Given the description of an element on the screen output the (x, y) to click on. 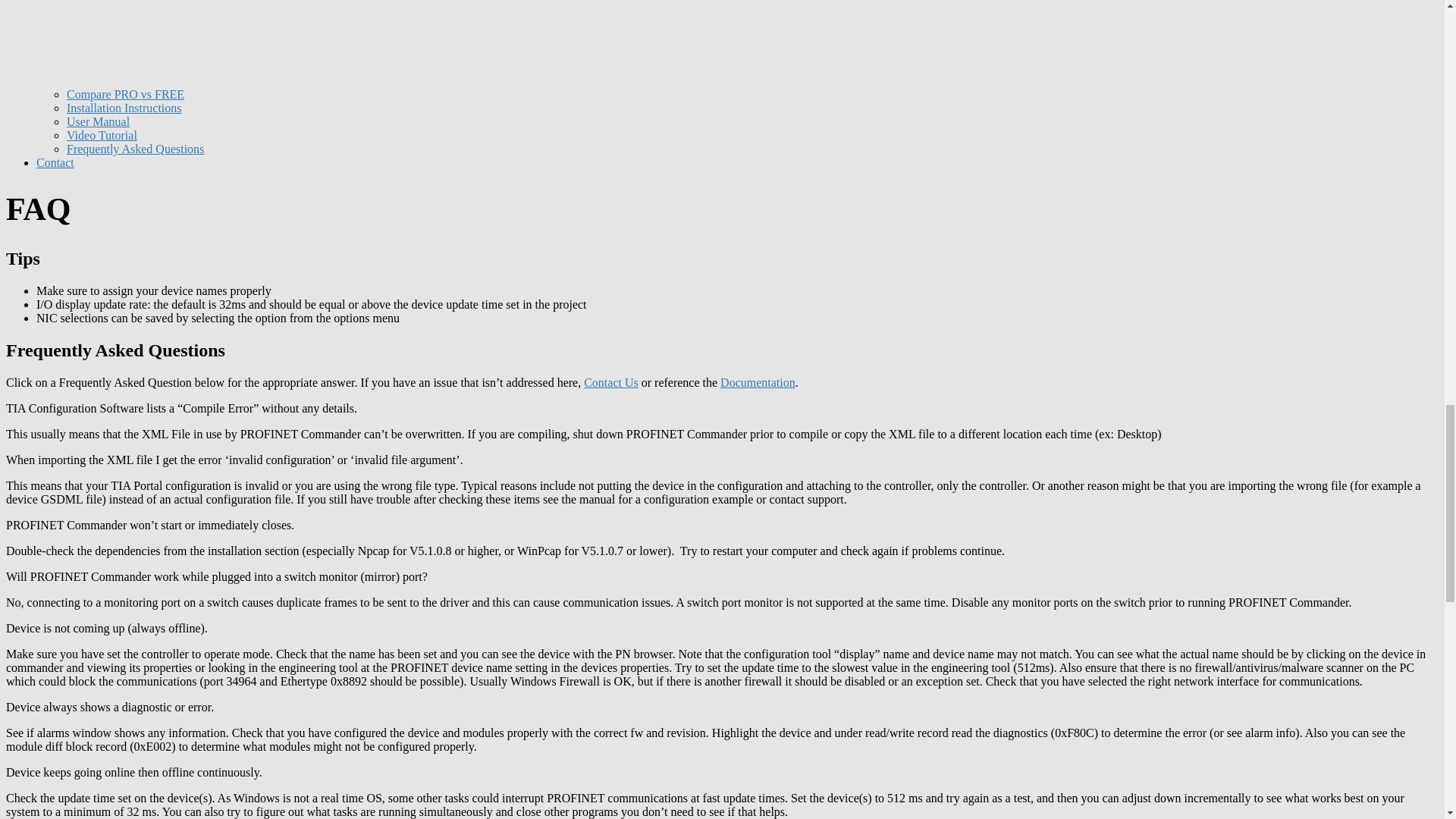
Frequently Asked Questions (134, 148)
Contact (55, 162)
Installation Instructions (124, 107)
Frequently Asked Questions (134, 148)
Contact (55, 162)
Contact Us (611, 382)
Compare PRO vs FREE (125, 93)
Compare PRO vs FREE (125, 93)
User Manual (97, 121)
User Manual (97, 121)
Documentation (757, 382)
Video Tutorial (101, 134)
Video Tutorial (101, 134)
Installation Instructions (124, 107)
